Given the description of an element on the screen output the (x, y) to click on. 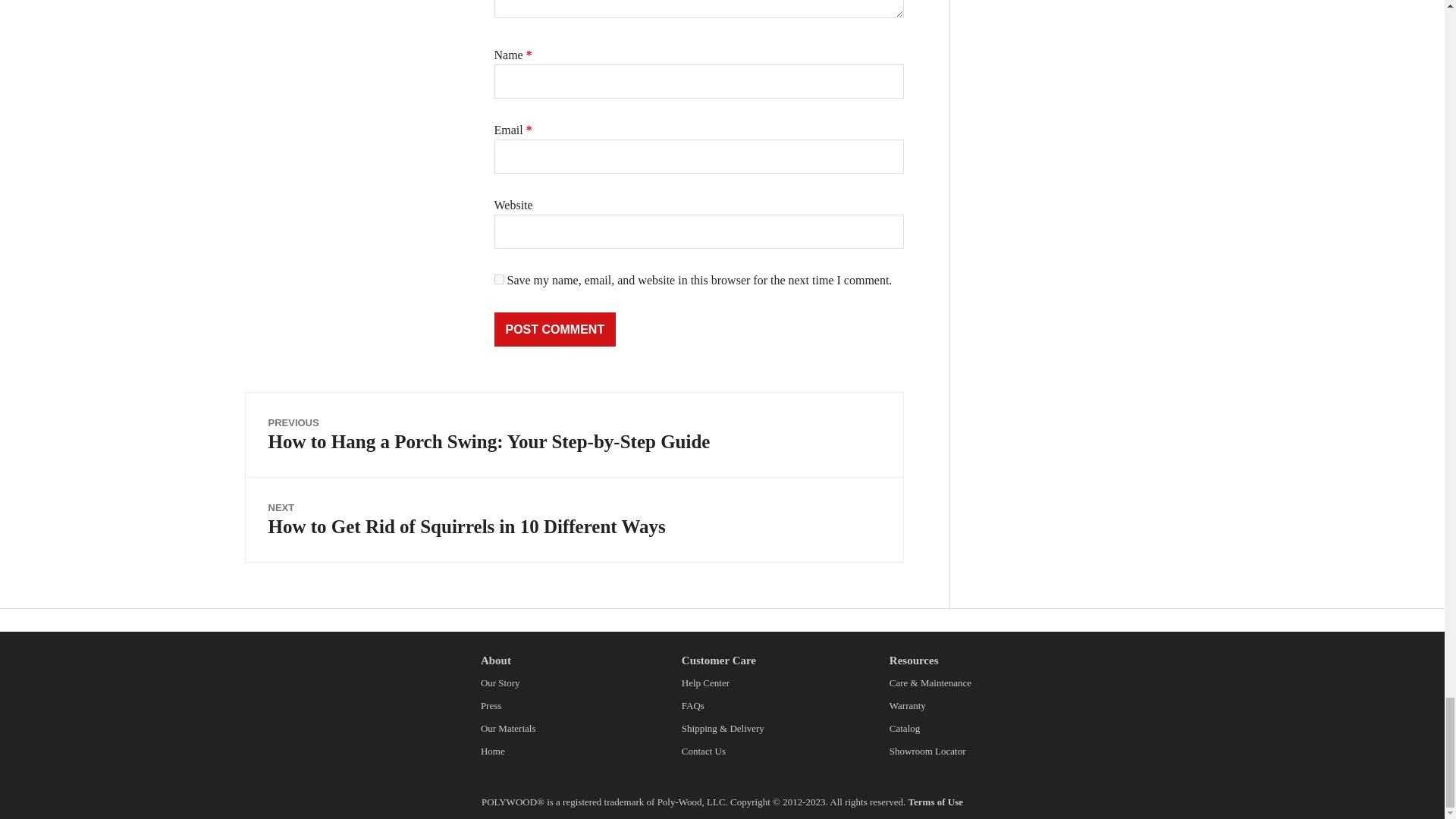
Post Comment (555, 329)
Post Comment (555, 329)
yes (499, 279)
